Given the description of an element on the screen output the (x, y) to click on. 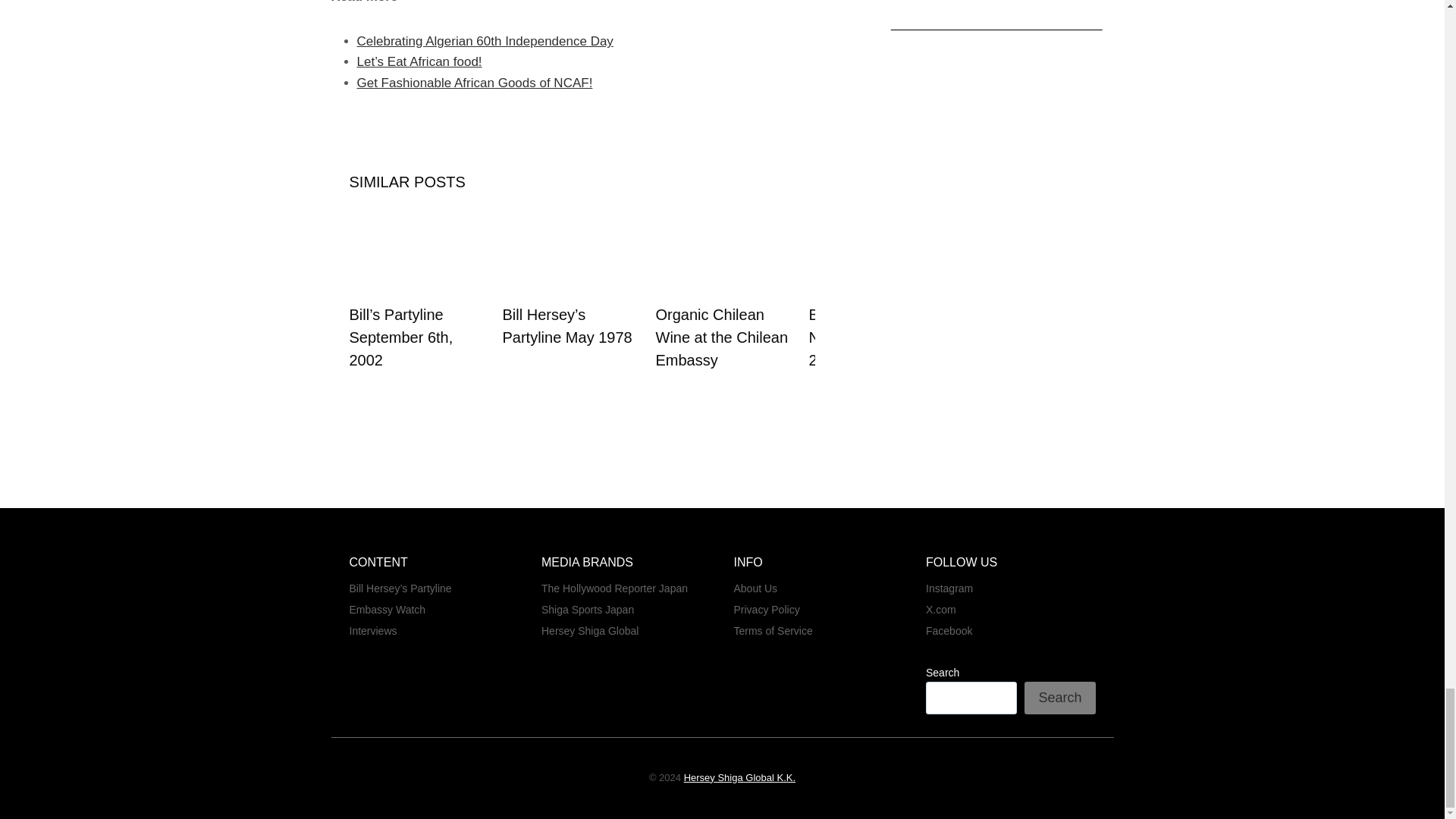
Get Fashionable African Goods of NCAF! (474, 83)
Organic Chilean Wine at the Chilean Embassy (721, 337)
Celebrating Algerian 60th Independence Day (484, 41)
